Given the description of an element on the screen output the (x, y) to click on. 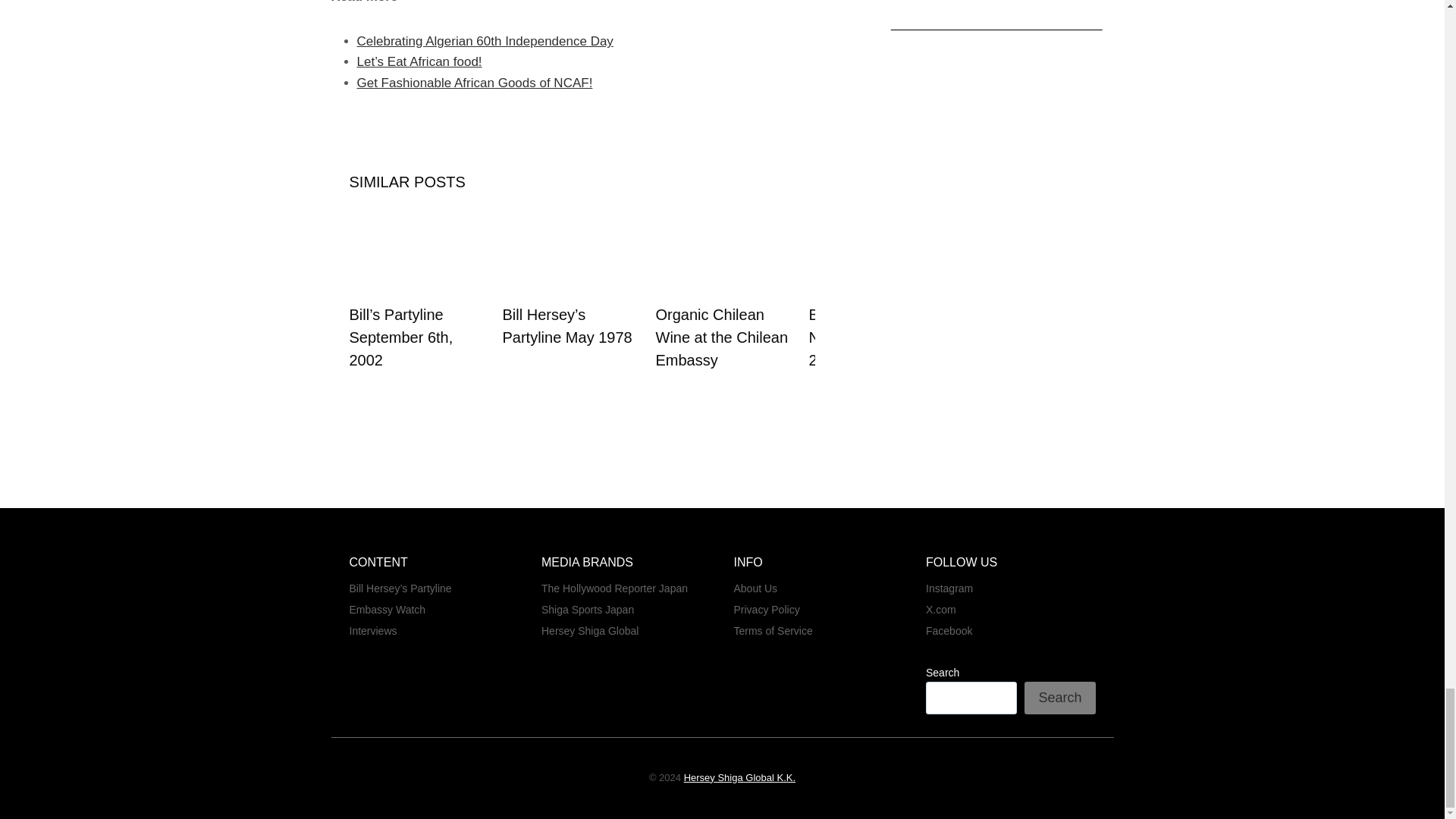
Get Fashionable African Goods of NCAF! (474, 83)
Organic Chilean Wine at the Chilean Embassy (721, 337)
Celebrating Algerian 60th Independence Day (484, 41)
